Given the description of an element on the screen output the (x, y) to click on. 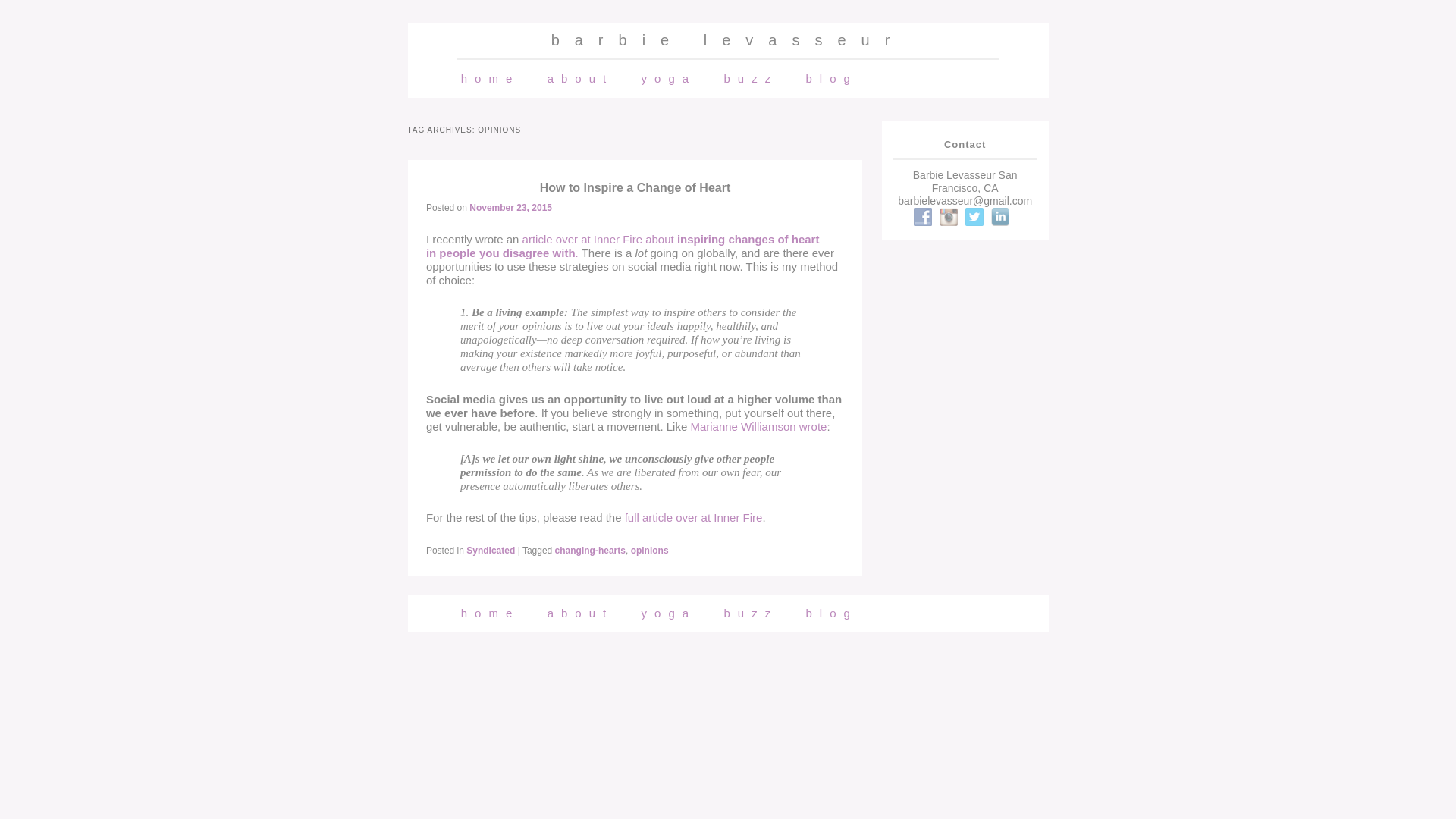
barbie levasseur (728, 39)
home (490, 78)
changing-hearts (590, 550)
Marianne Williamson wrote (758, 426)
November 23, 2015 (509, 207)
opinions (649, 550)
Follow me on LinkedIn (1000, 217)
